Given the description of an element on the screen output the (x, y) to click on. 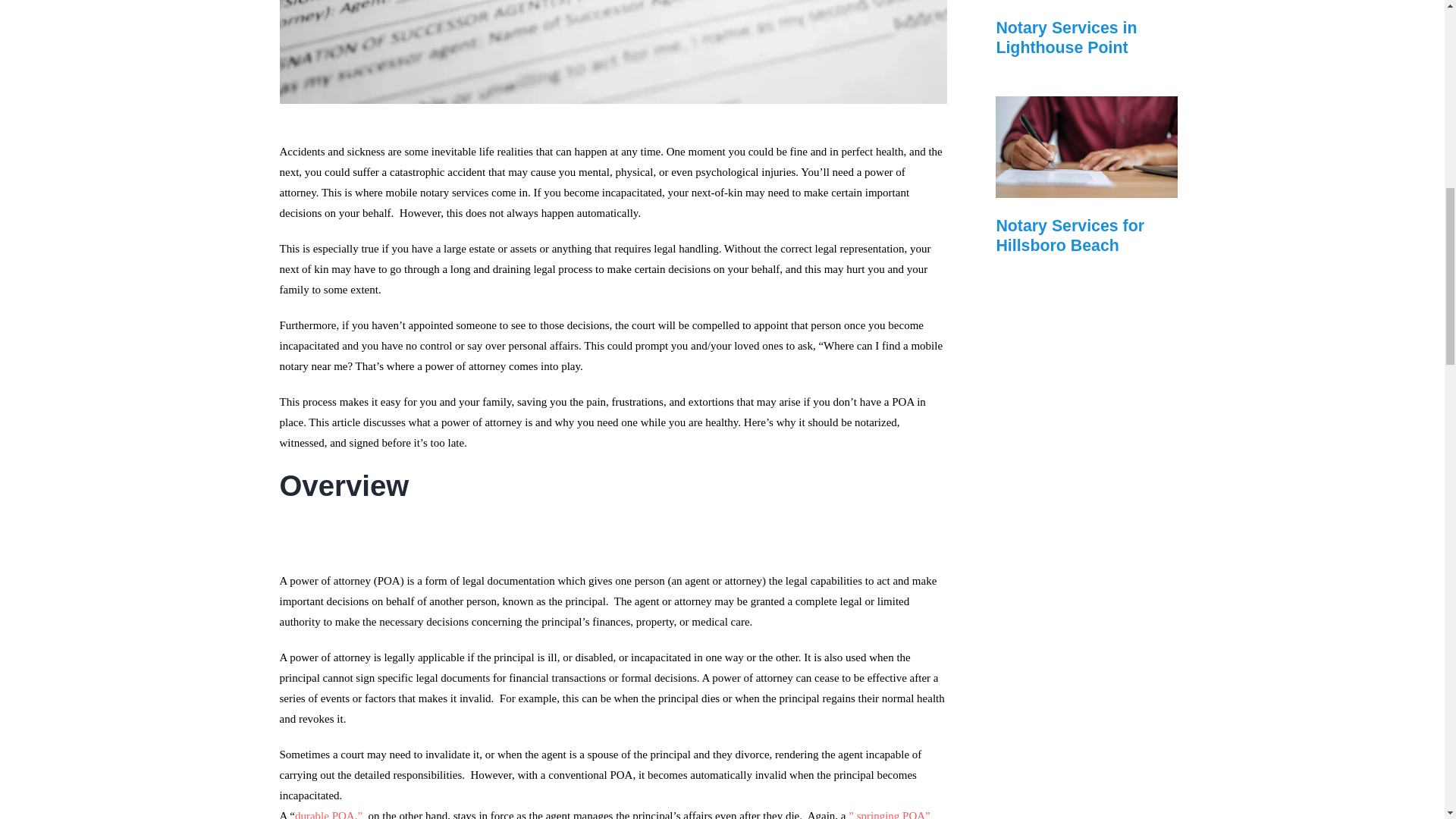
powerofattorney (613, 51)
Notary Services for Hillsboro Beach (1069, 235)
Notary Services in Lighthouse Point (1066, 37)
